Given the description of an element on the screen output the (x, y) to click on. 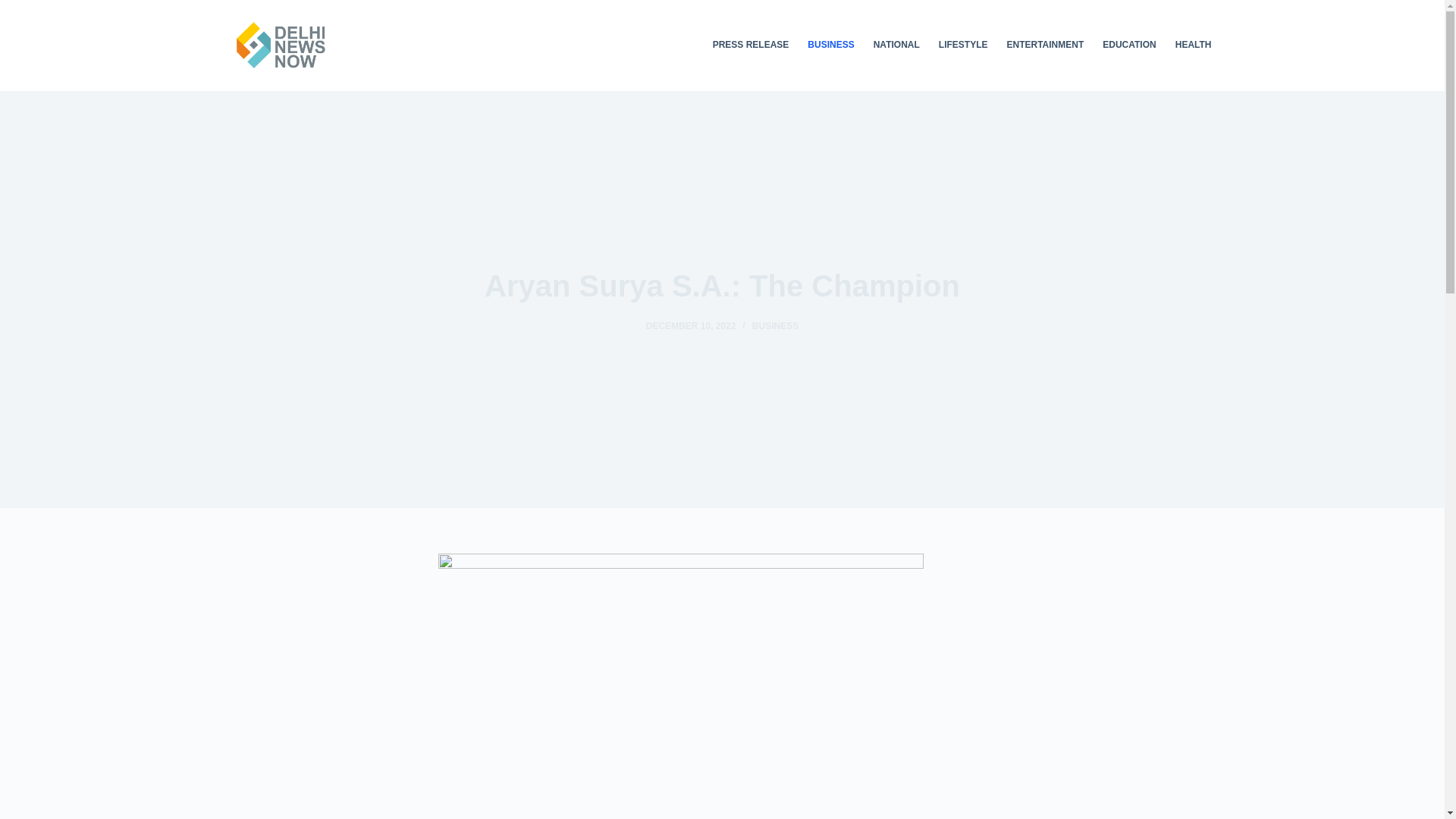
EDUCATION (1129, 45)
NATIONAL (895, 45)
ENTERTAINMENT (1045, 45)
LIFESTYLE (962, 45)
BUSINESS (774, 326)
Aryan Surya S.A.: The Champion (722, 285)
HEALTH (1188, 45)
Skip to content (15, 7)
PRESS RELEASE (750, 45)
BUSINESS (830, 45)
